Given the description of an element on the screen output the (x, y) to click on. 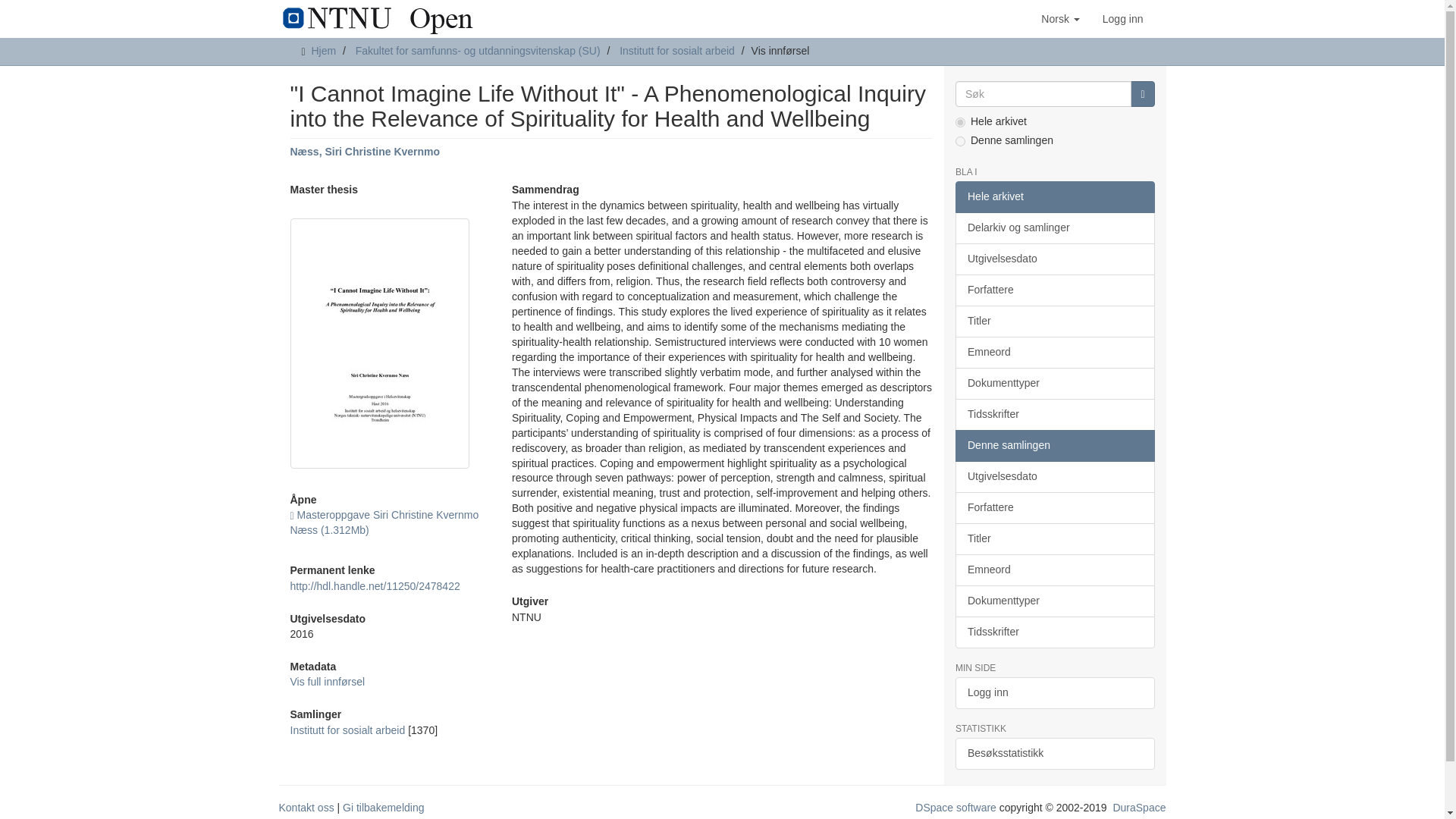
Institutt for sosialt arbeid (677, 50)
Hele arkivet (1054, 196)
Emneord (1054, 352)
Hjem (323, 50)
Forfattere (1054, 290)
Logg inn (1122, 18)
Delarkiv og samlinger (1054, 228)
Titler (1054, 321)
Norsk  (1059, 18)
Tidsskrifter (1054, 414)
Institutt for sosialt arbeid (346, 729)
Dokumenttyper (1054, 383)
Utgivelsesdato (1054, 259)
